Given the description of an element on the screen output the (x, y) to click on. 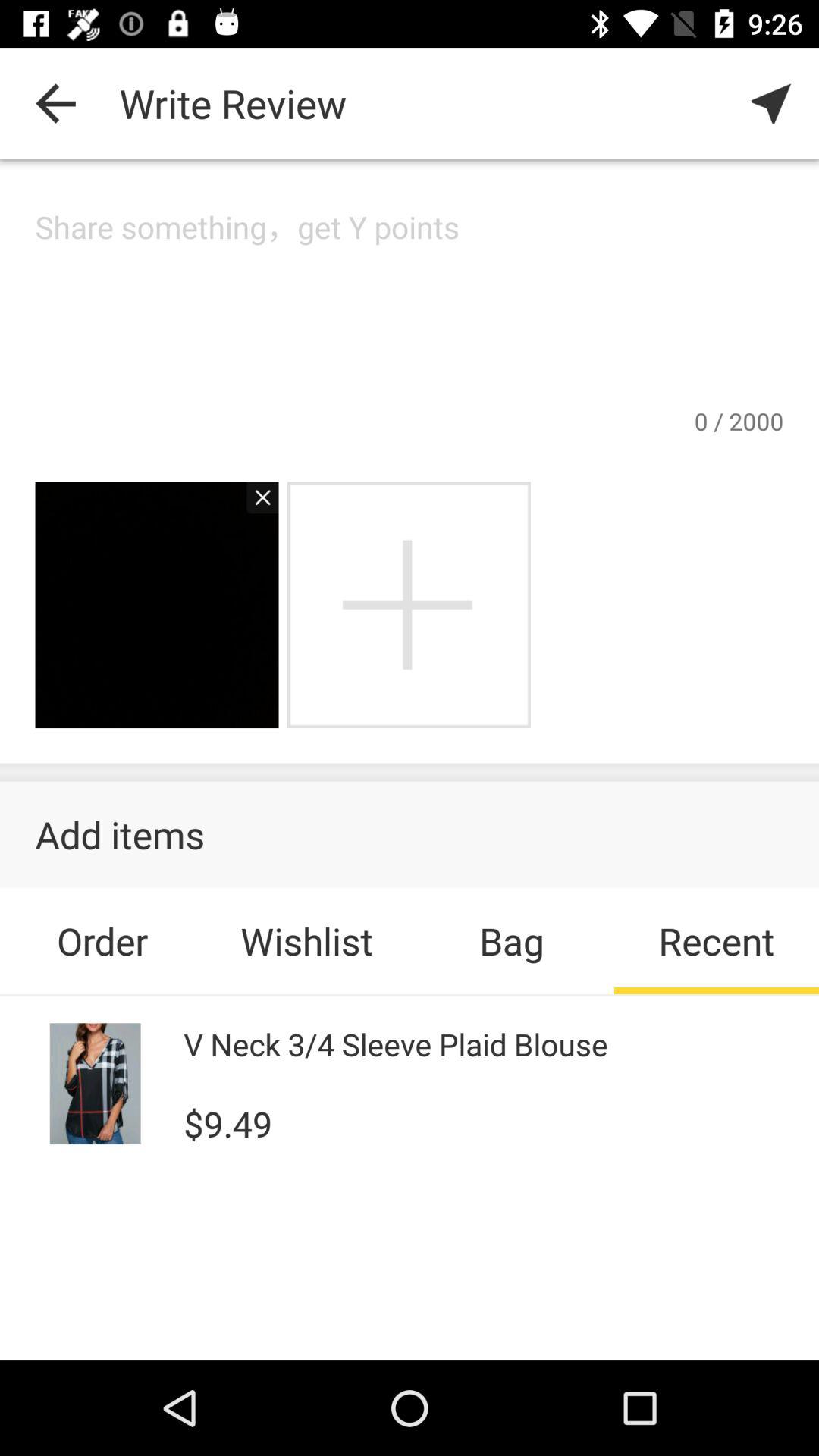
tap the $9.49 icon (227, 1121)
